Given the description of an element on the screen output the (x, y) to click on. 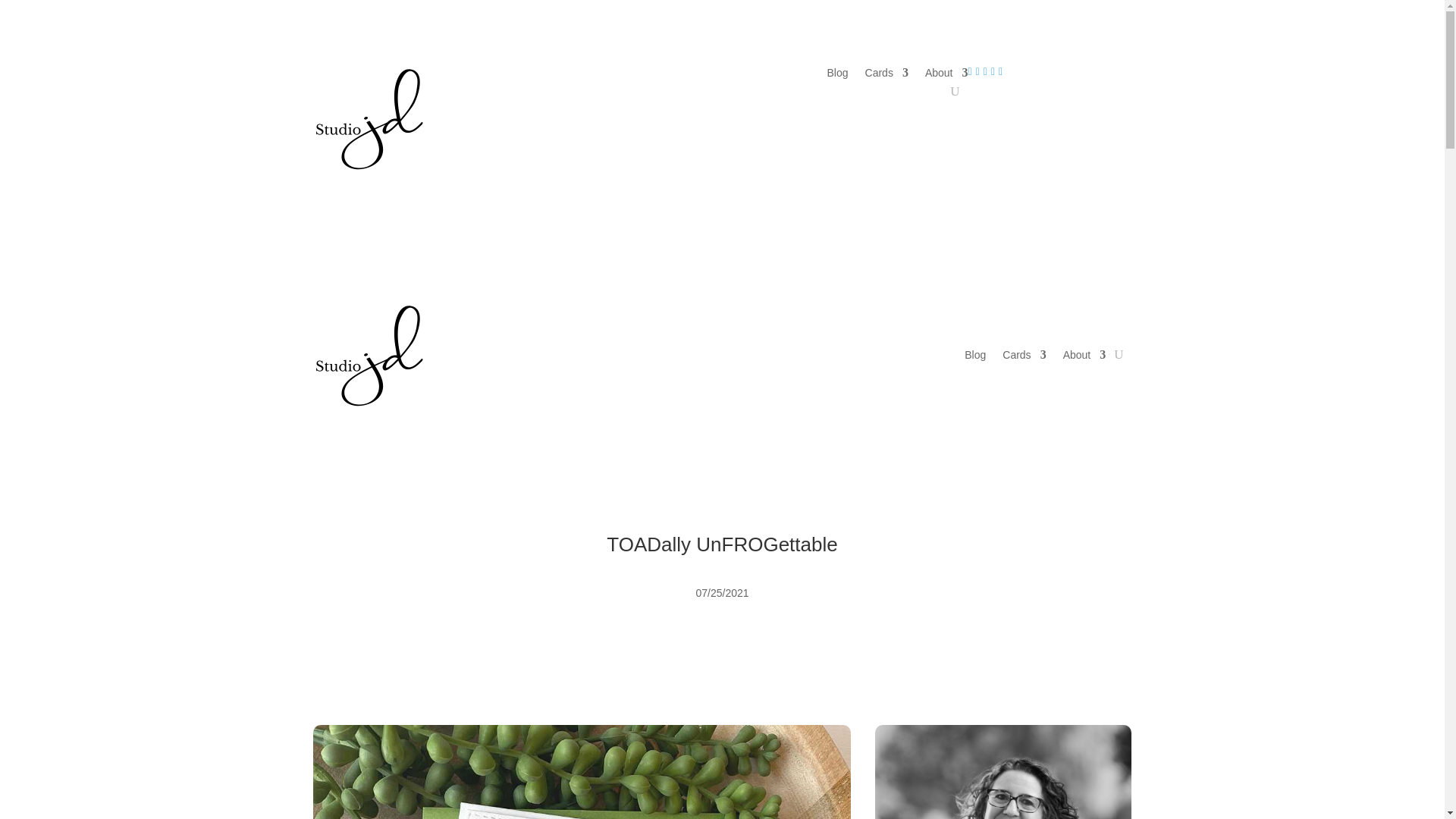
About (946, 75)
Blog (837, 75)
Cards (886, 75)
